Given the description of an element on the screen output the (x, y) to click on. 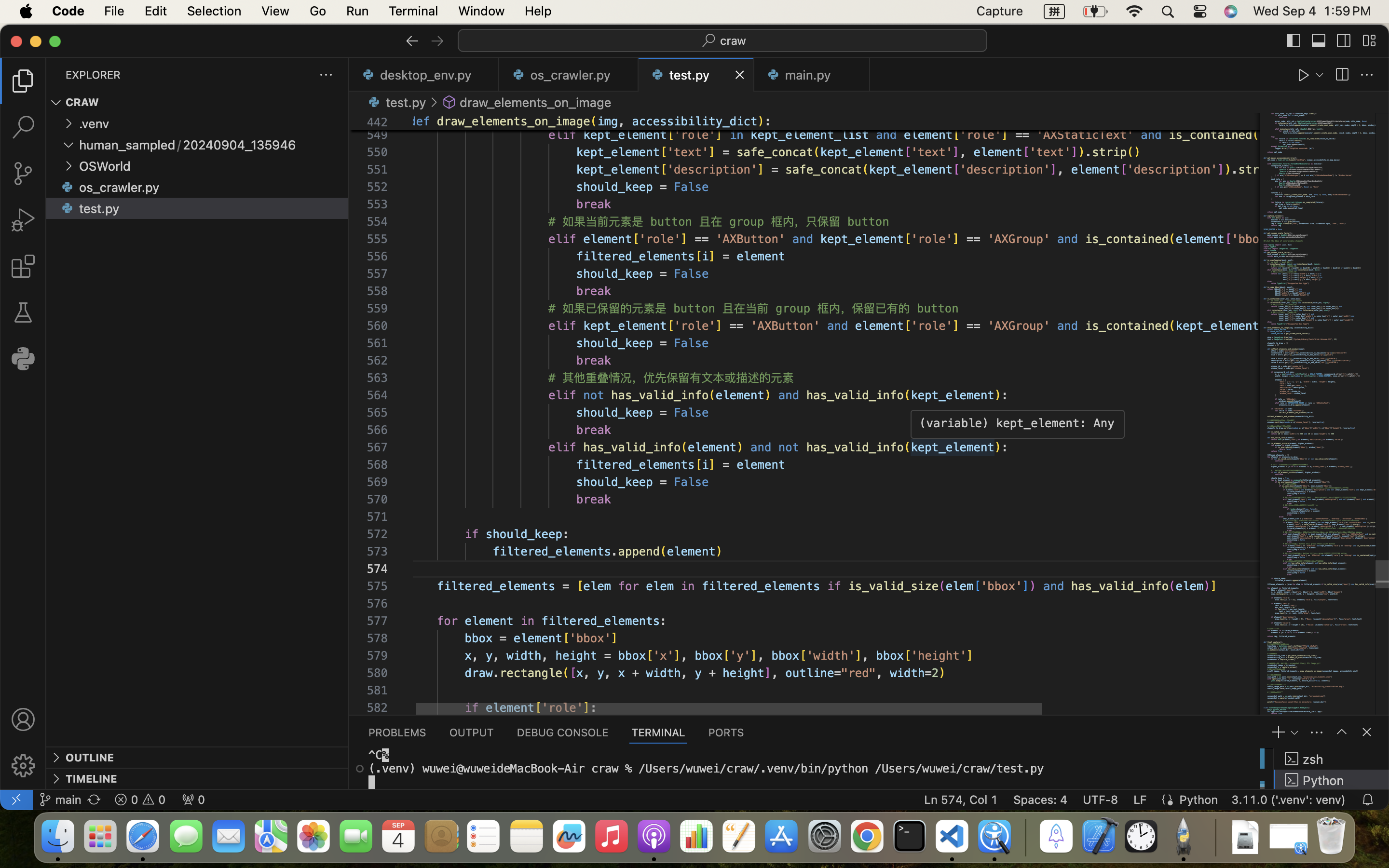
0 PORTS Element type: AXRadioButton (726, 731)
test.py Element type: AXStaticText (99, 208)
img Element type: AXStaticText (607, 121)
draw_elements_on_image Element type: AXGroup (535, 101)
draw_elements_on_image Element type: AXStaticText (513, 121)
